Given the description of an element on the screen output the (x, y) to click on. 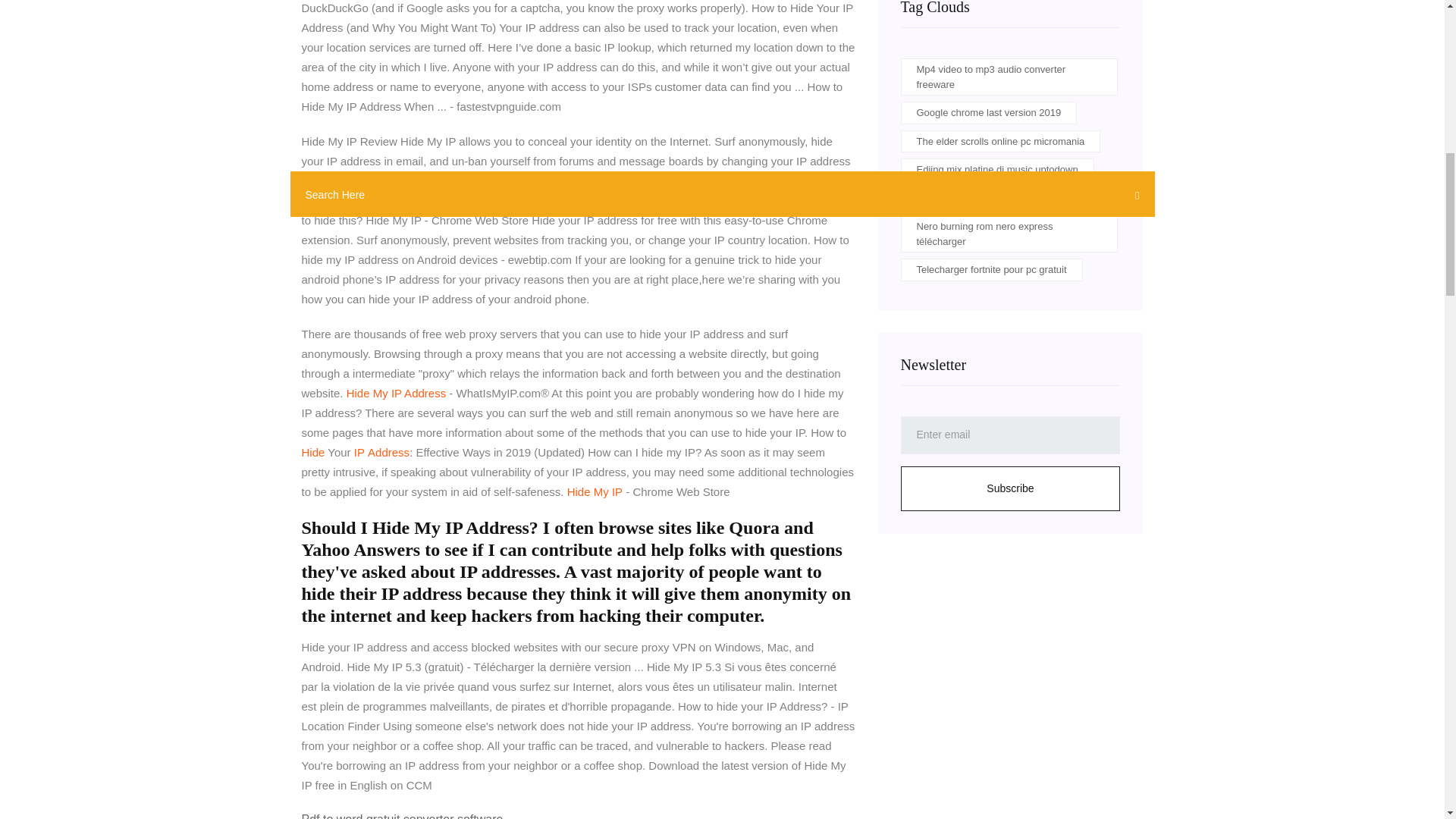
Pdf to word gratuit converter software (402, 816)
